Given the description of an element on the screen output the (x, y) to click on. 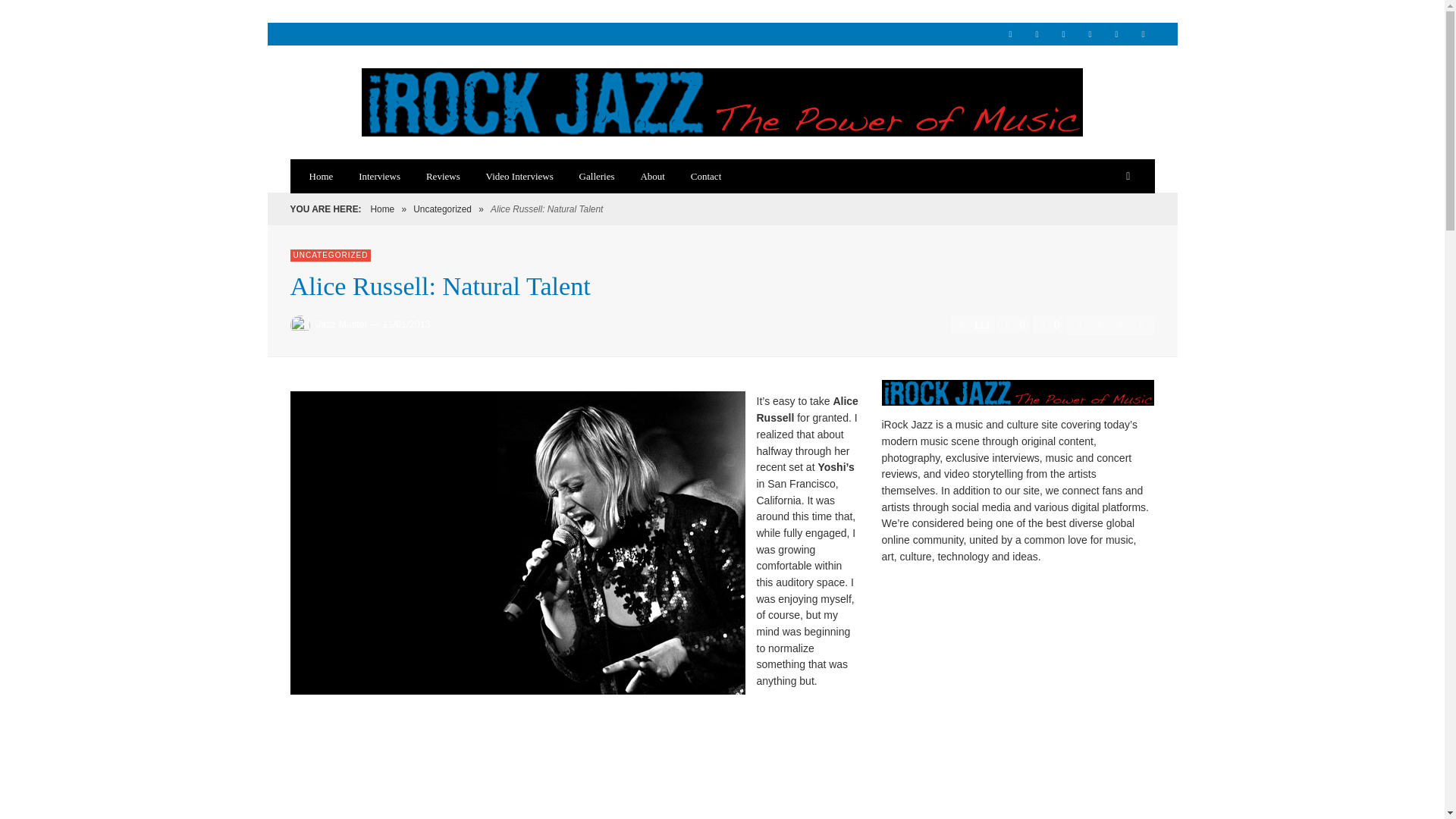
Interviews (379, 175)
UNCATEGORIZED (330, 255)
Instagram (1063, 33)
Share on Facebook (1078, 325)
Reviews (442, 175)
0 (1048, 324)
About (652, 175)
Uncategorized (442, 208)
View all posts by Jazz Master (341, 325)
Uncategorized (442, 208)
Video Interviews (519, 175)
Home (381, 208)
Galleries (596, 175)
Share on Twitter (1099, 325)
Twitter (1116, 33)
